Given the description of an element on the screen output the (x, y) to click on. 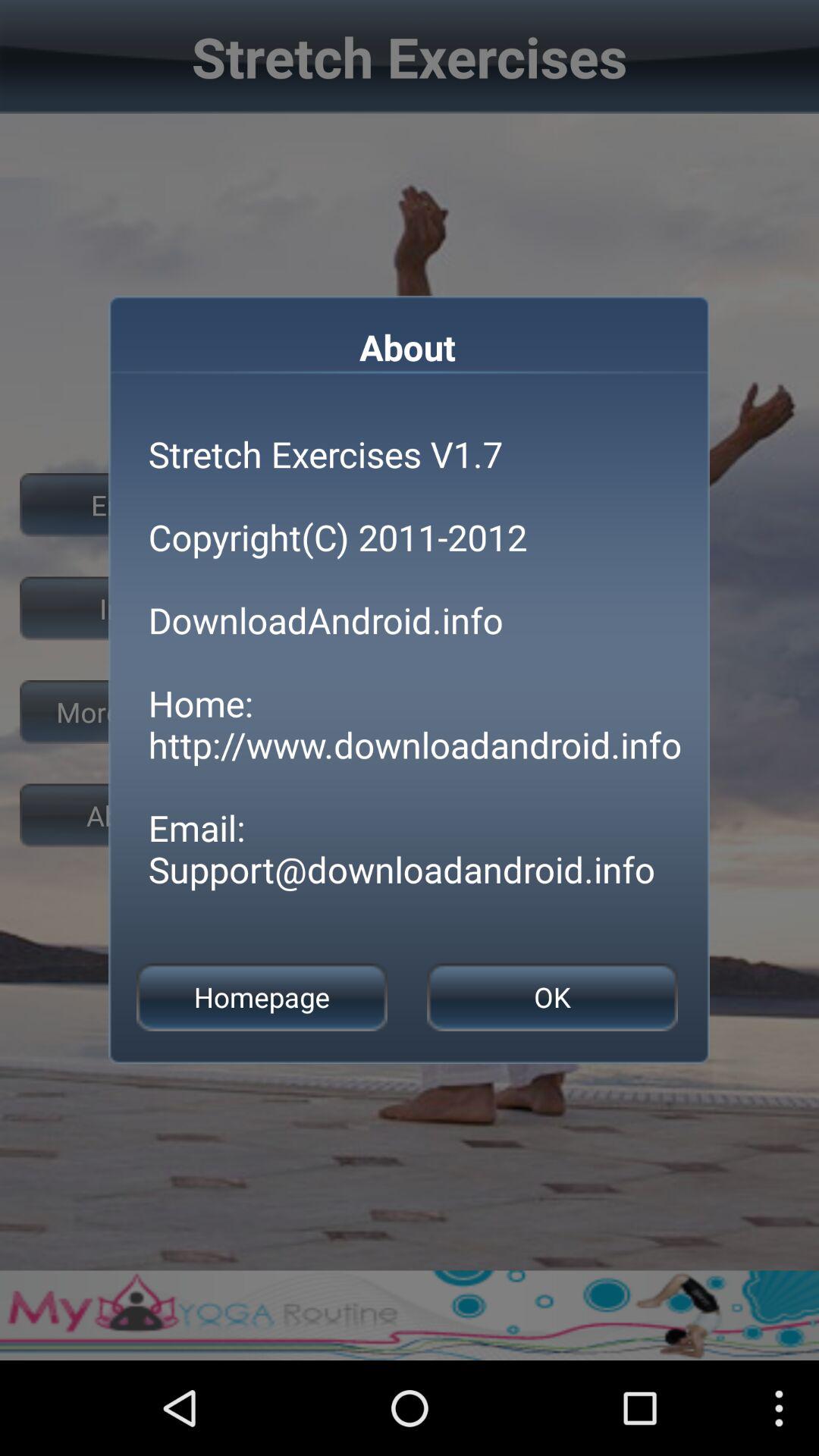
tap button at the bottom left corner (261, 997)
